Given the description of an element on the screen output the (x, y) to click on. 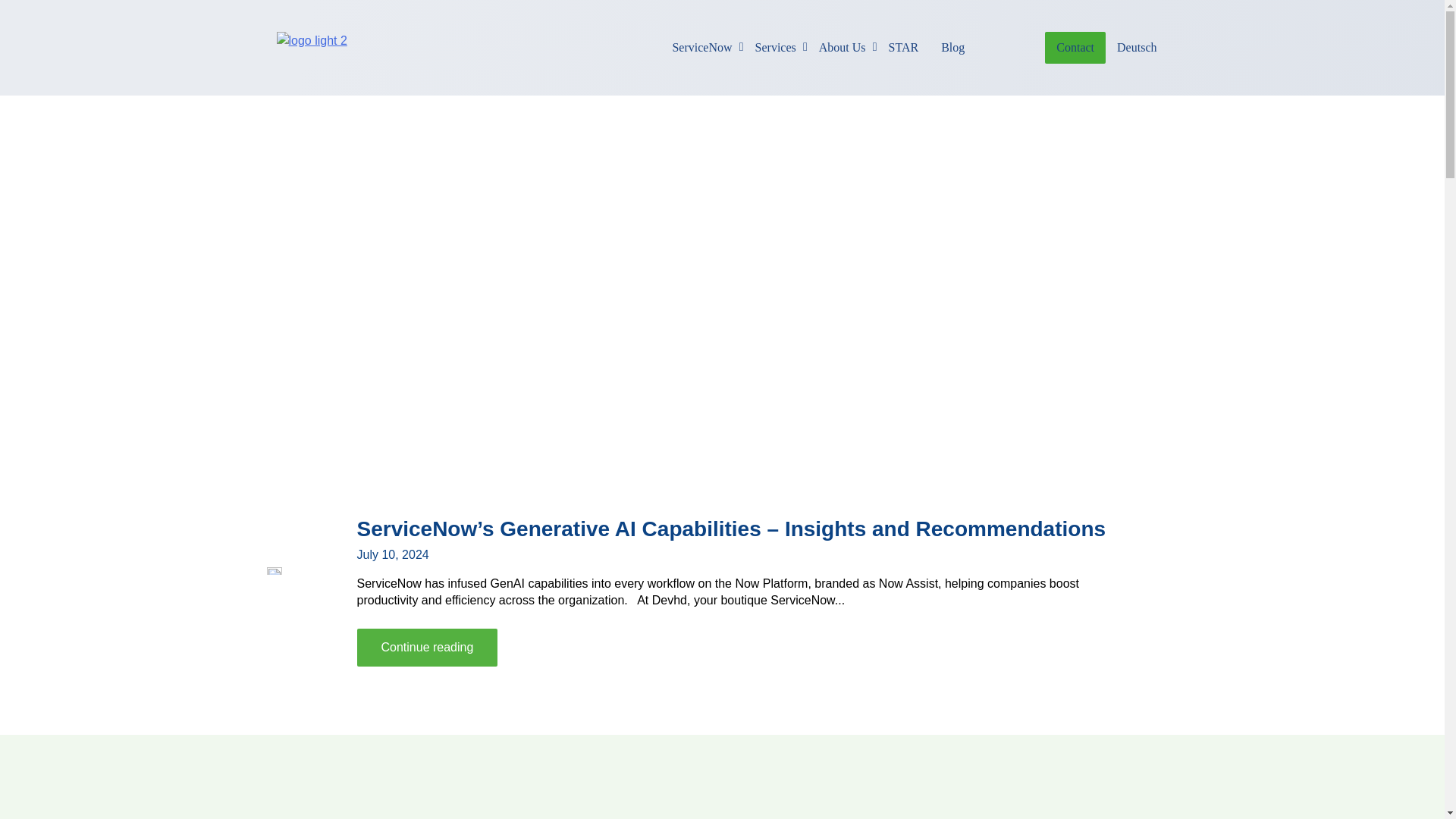
ServiceNow (701, 47)
Services (914, 47)
Continue reading (776, 47)
July 10, 2024 (426, 647)
Blog (392, 554)
Contact (952, 47)
STAR (1075, 47)
Deutsch (903, 47)
About Us (1136, 47)
